Given the description of an element on the screen output the (x, y) to click on. 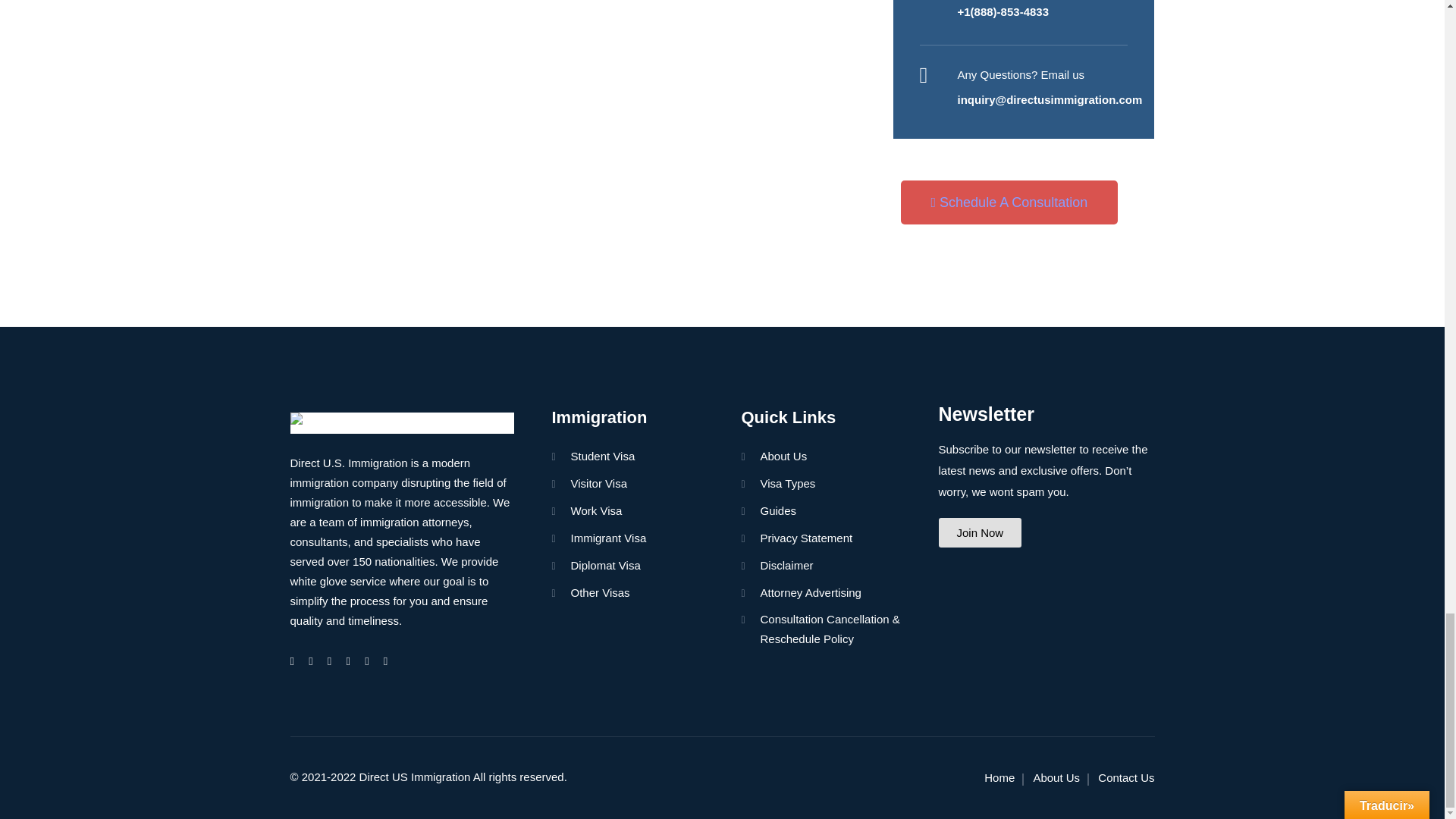
logo-white (401, 423)
